Given the description of an element on the screen output the (x, y) to click on. 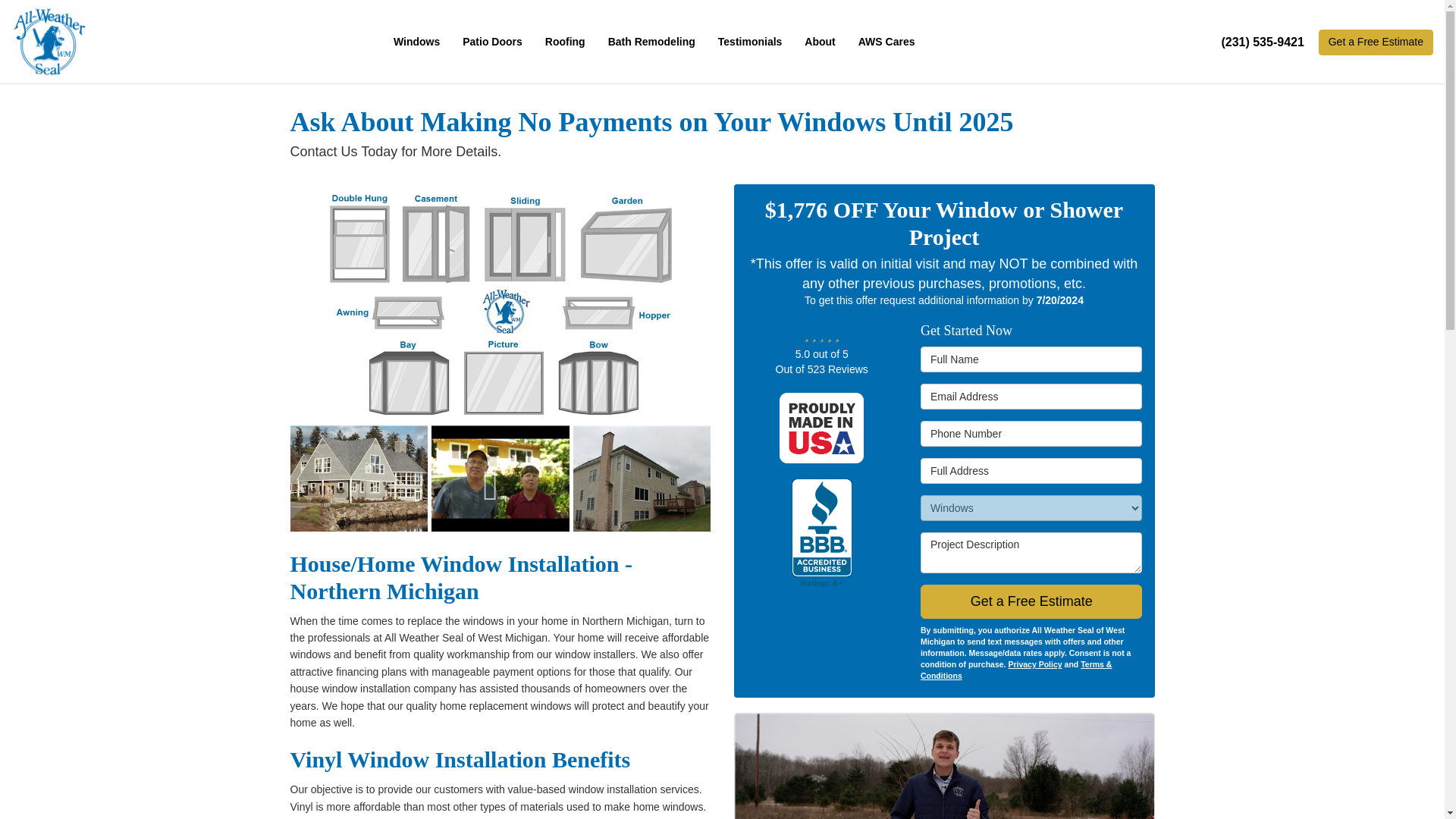
Get a Free Estimate (1375, 42)
Bath Remodeling (651, 41)
AWS Cares (886, 41)
Testimonials (749, 41)
Get a Free Estimate (1375, 42)
Patio Doors (492, 41)
